Given the description of an element on the screen output the (x, y) to click on. 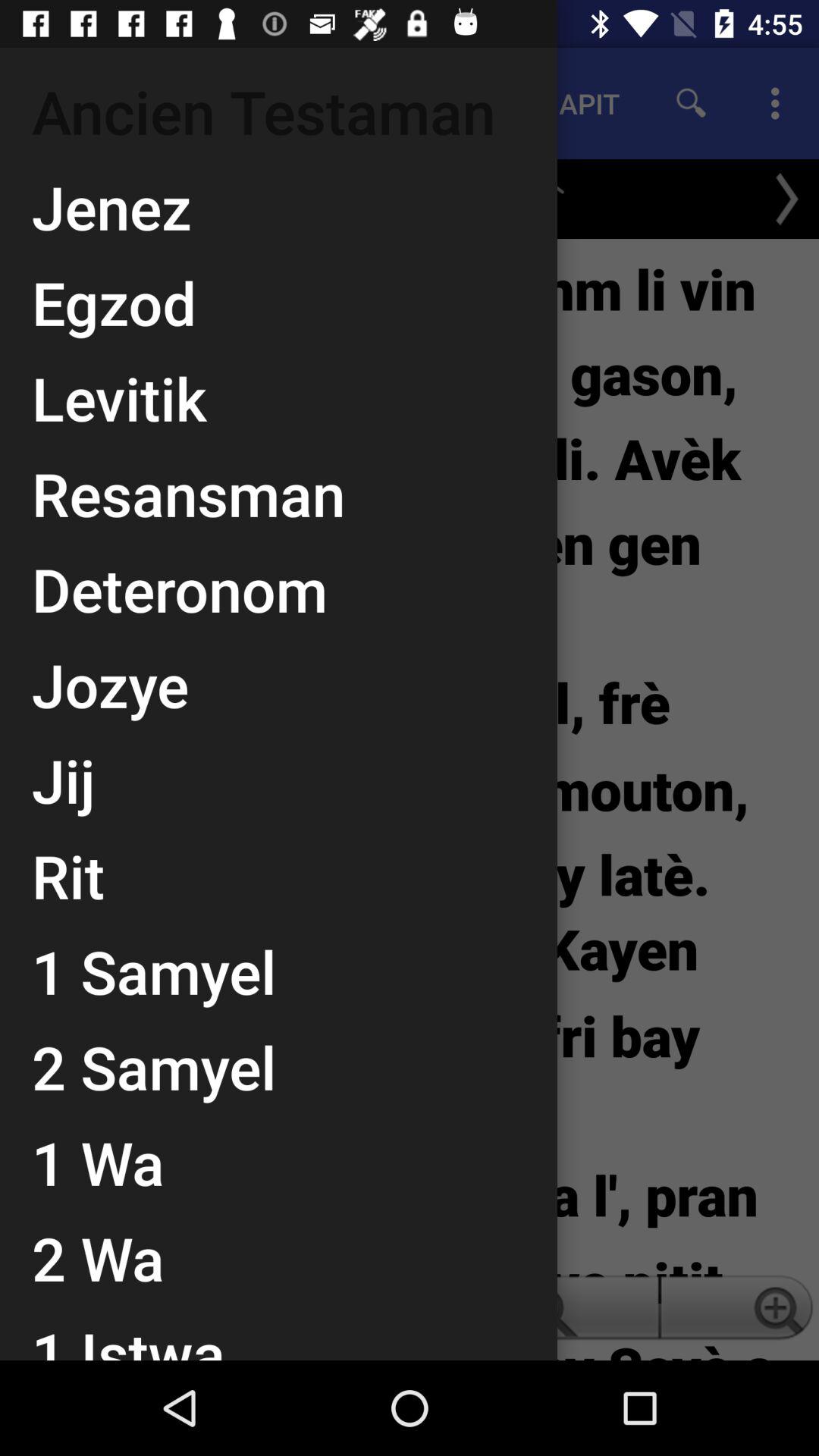
select the search icon which is before more option (691, 103)
select the next option on the top right corner (787, 198)
